Given the description of an element on the screen output the (x, y) to click on. 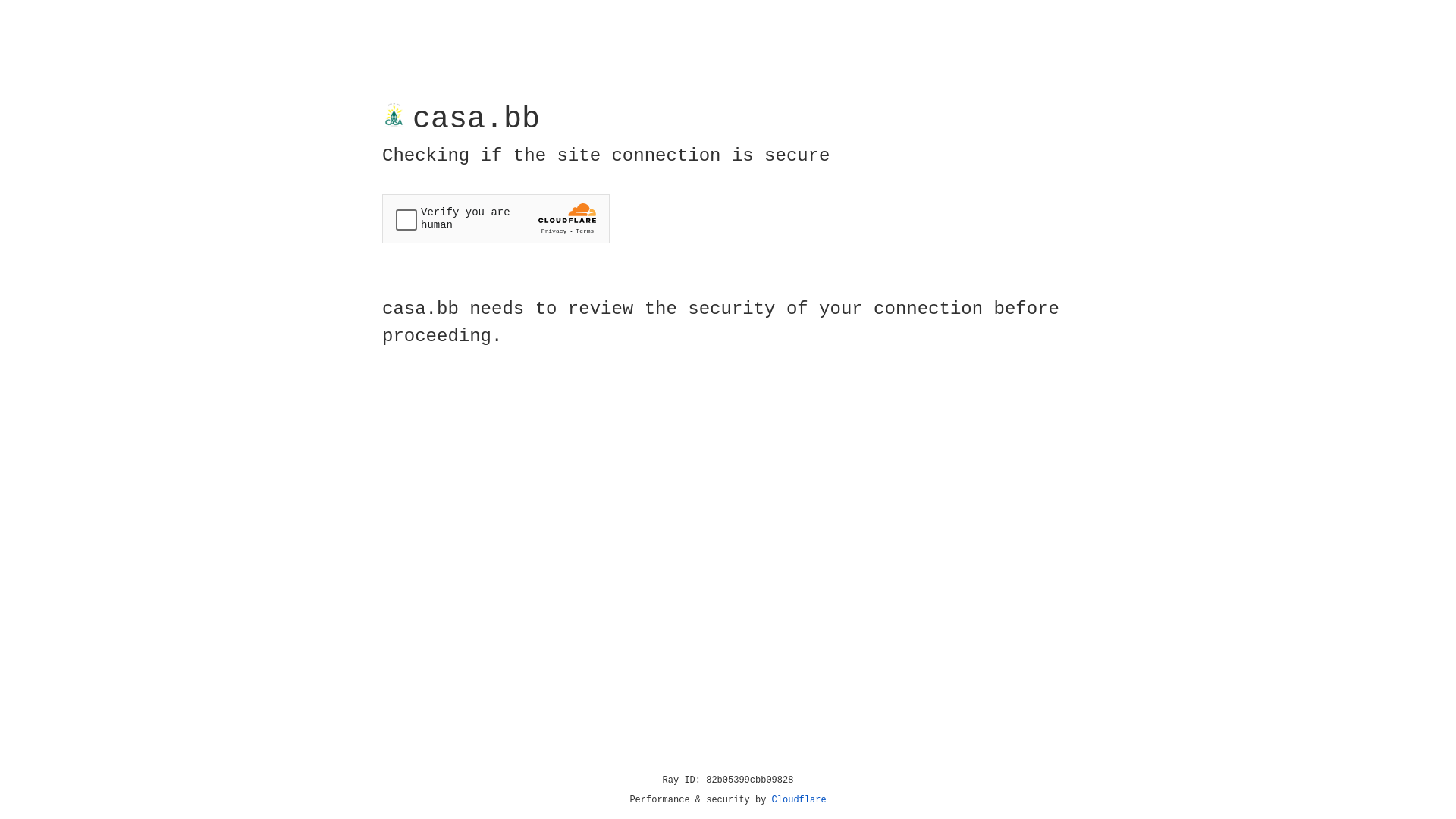
Cloudflare Element type: text (798, 799)
Widget containing a Cloudflare security challenge Element type: hover (495, 218)
